Given the description of an element on the screen output the (x, y) to click on. 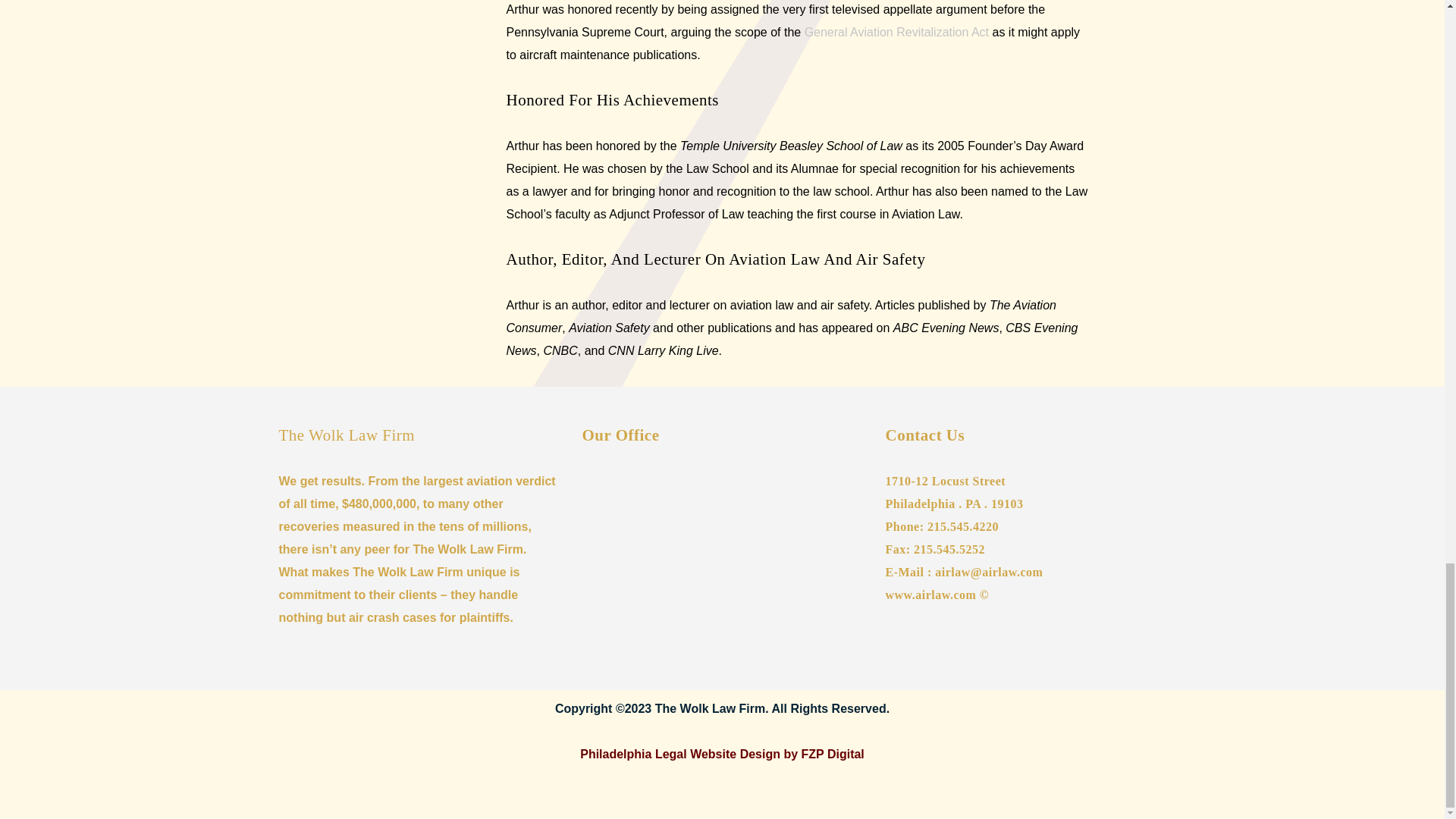
General Aviation Revitalization Act (896, 31)
Philadelphia Legal Website Design by FZP Digital (721, 753)
